Given the description of an element on the screen output the (x, y) to click on. 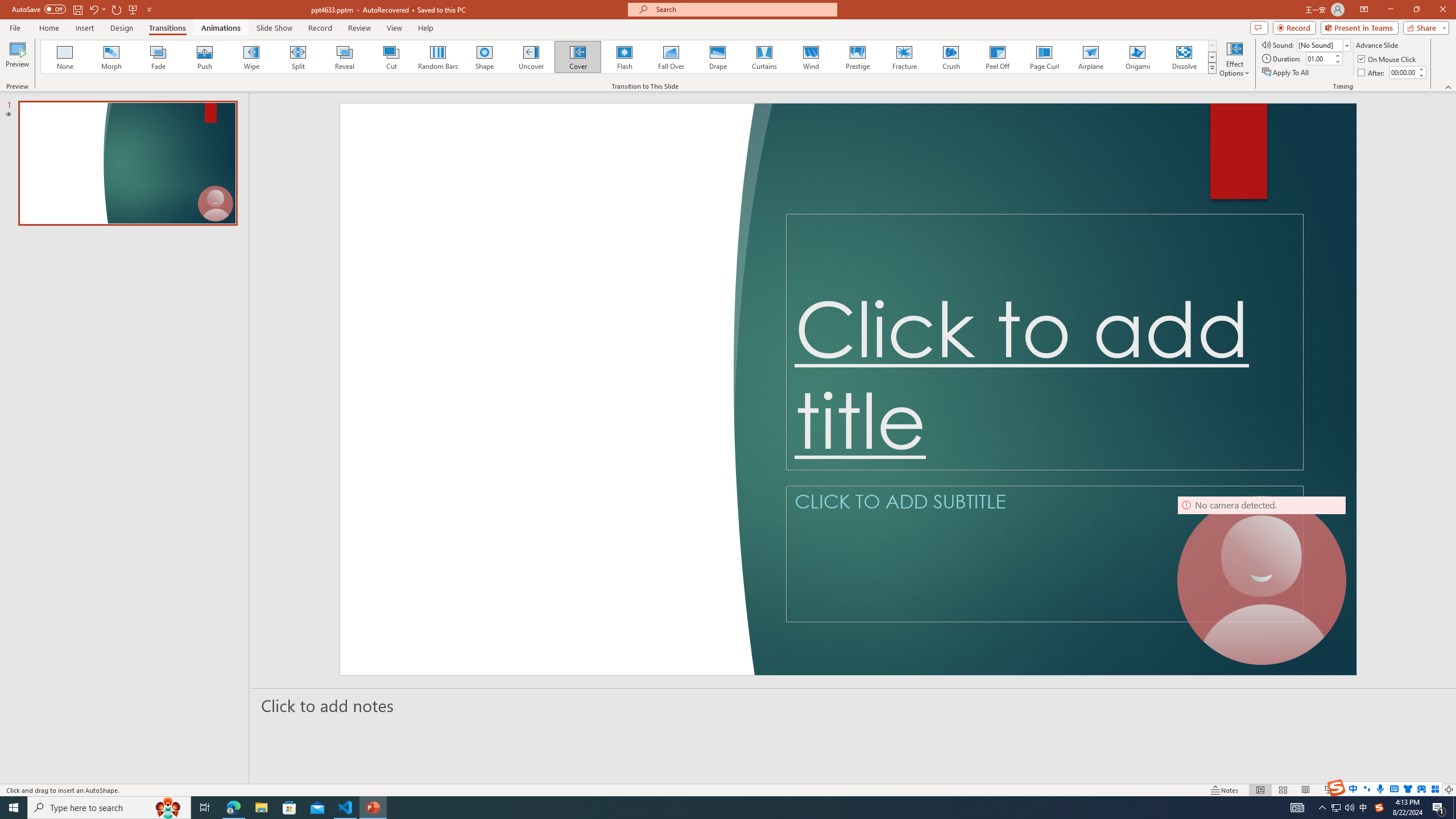
Banded Loading Preview... (614, 56)
Berlin Loading Preview... (720, 56)
Gallery Loading Preview... (1037, 56)
Slice Loading Preview... (508, 56)
Damask Loading Preview... (826, 56)
Frame Loading Preview... (984, 56)
Basis Loading Preview... (667, 56)
Dividend Loading Preview... (879, 56)
